Given the description of an element on the screen output the (x, y) to click on. 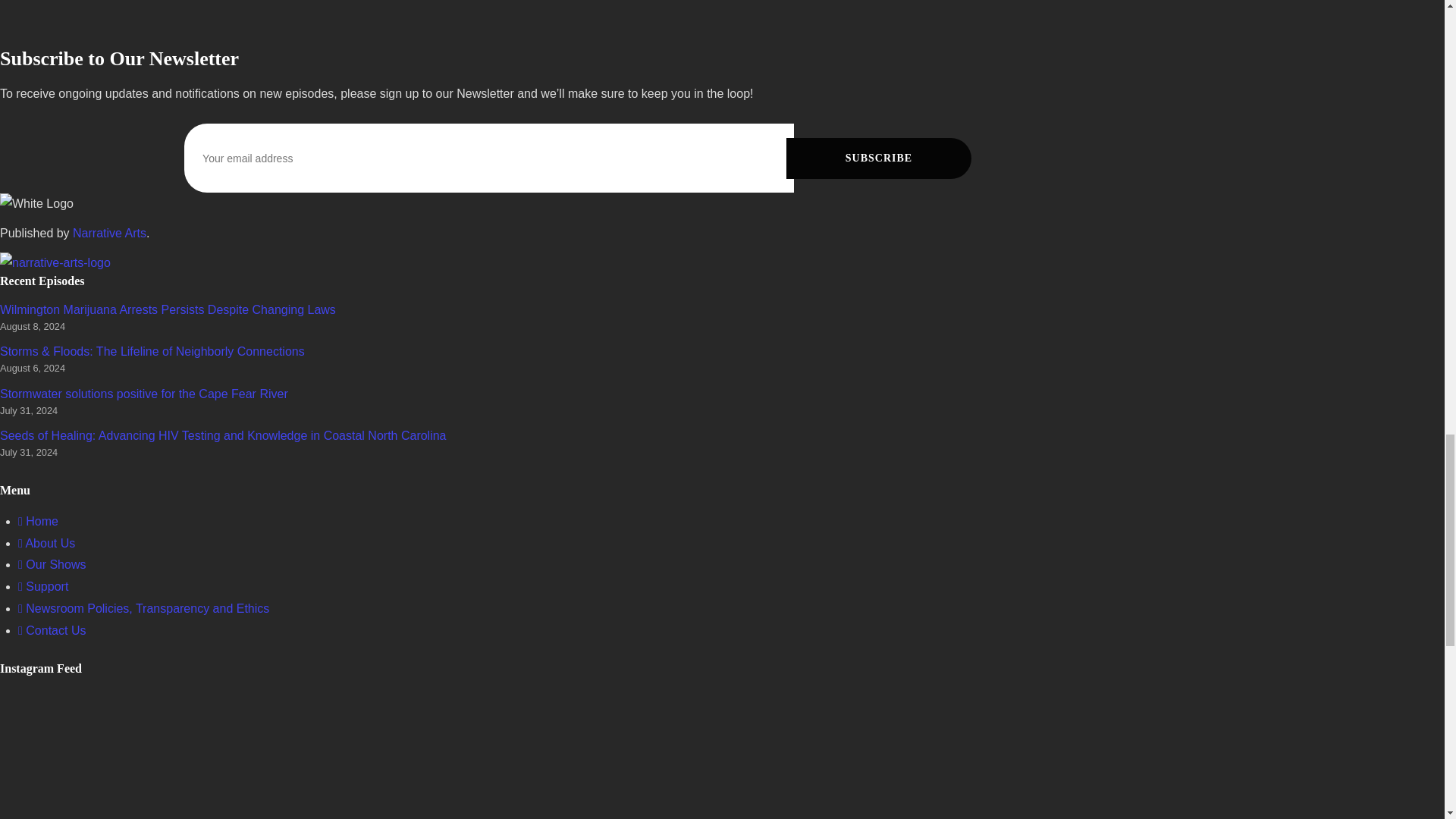
narrative-arts-logo (55, 263)
White Logo (37, 204)
Subscribe (878, 158)
